Given the description of an element on the screen output the (x, y) to click on. 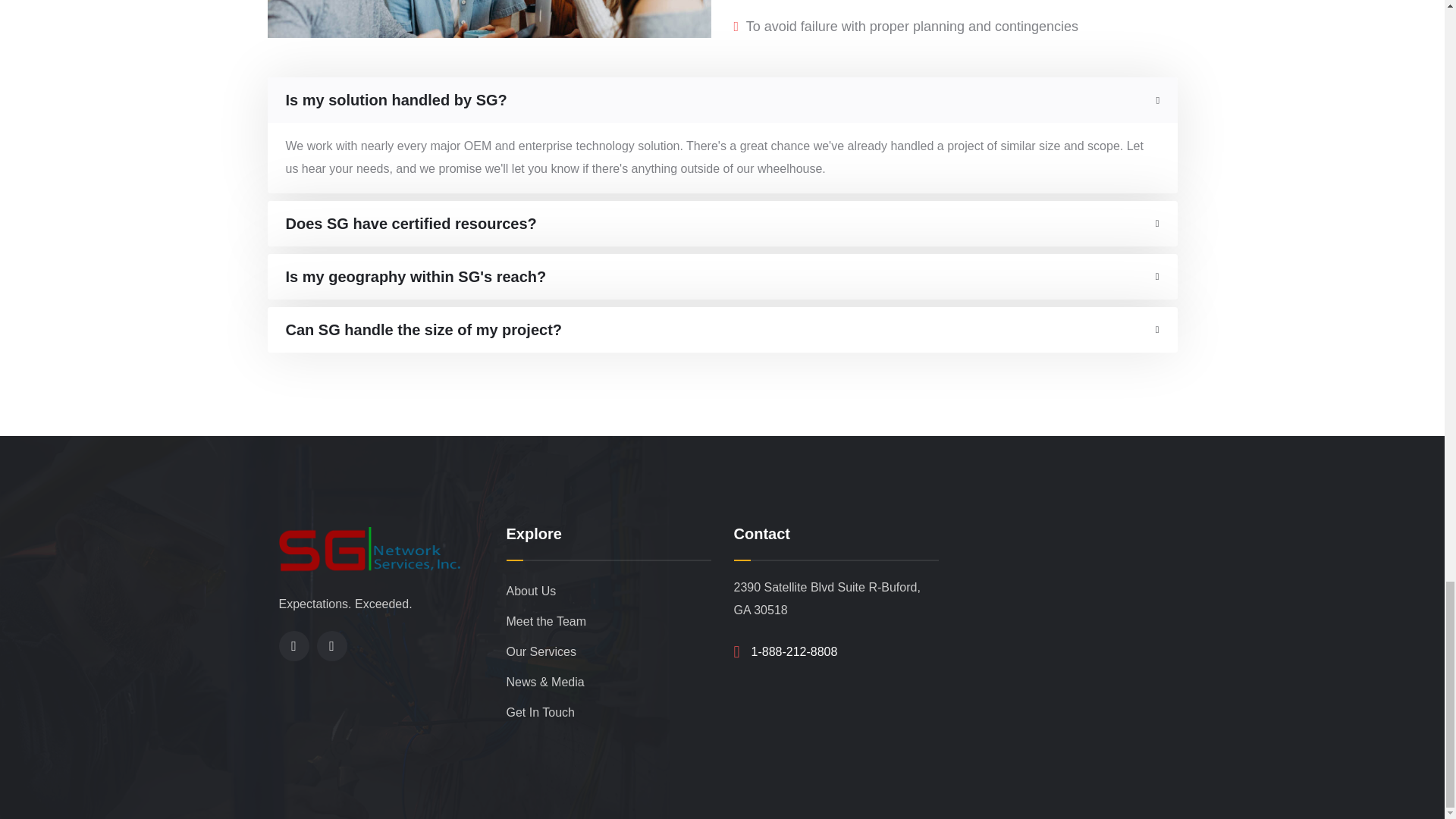
Our Services (608, 652)
About Us (608, 591)
Meet the Team (608, 621)
Get In Touch (608, 712)
1-888-212-8808 (794, 651)
